Given the description of an element on the screen output the (x, y) to click on. 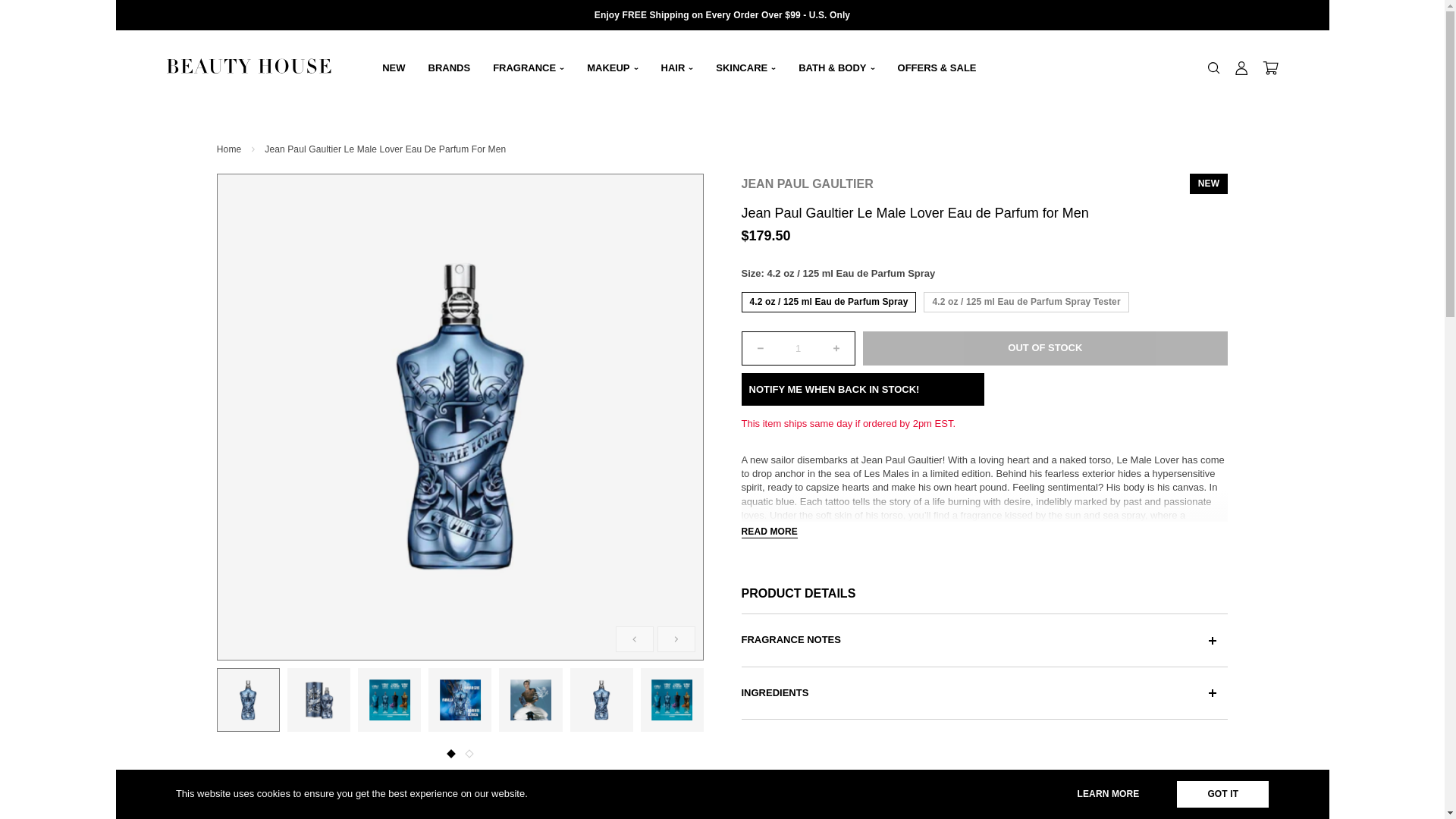
1 (796, 348)
FRAGRANCE (528, 68)
